Given the description of an element on the screen output the (x, y) to click on. 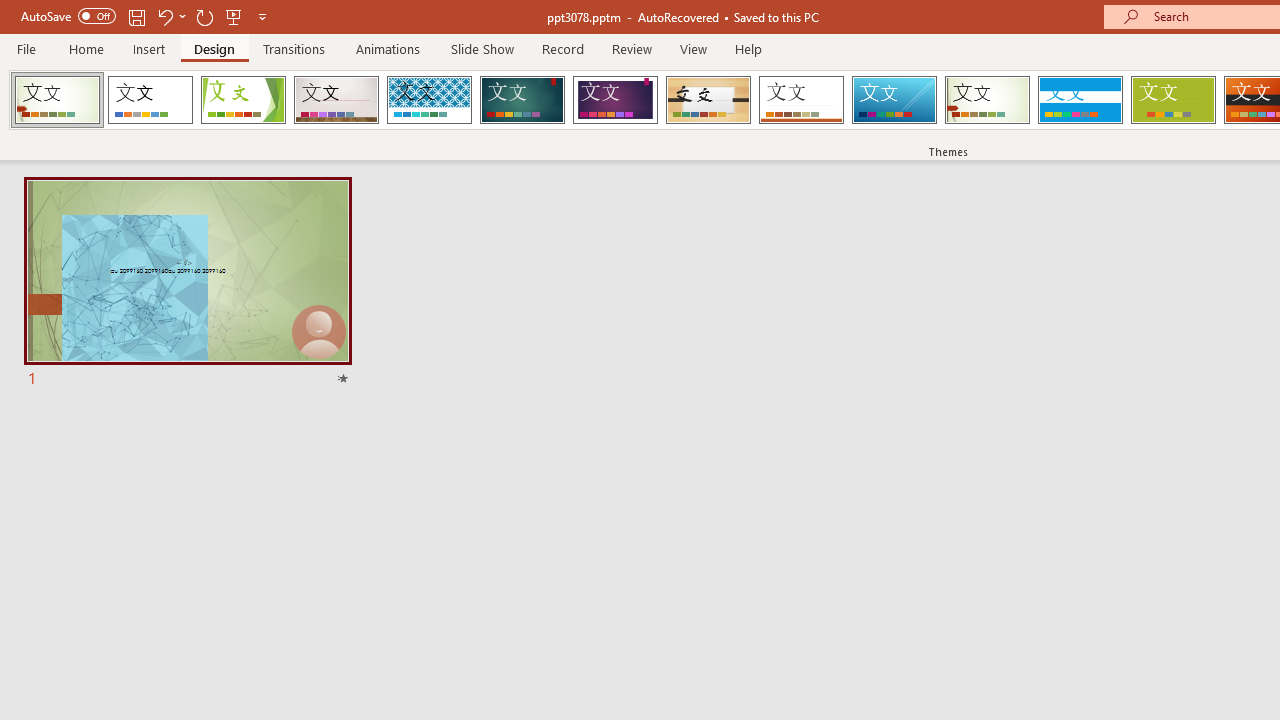
Basis (1172, 100)
Slide (187, 284)
